Given the description of an element on the screen output the (x, y) to click on. 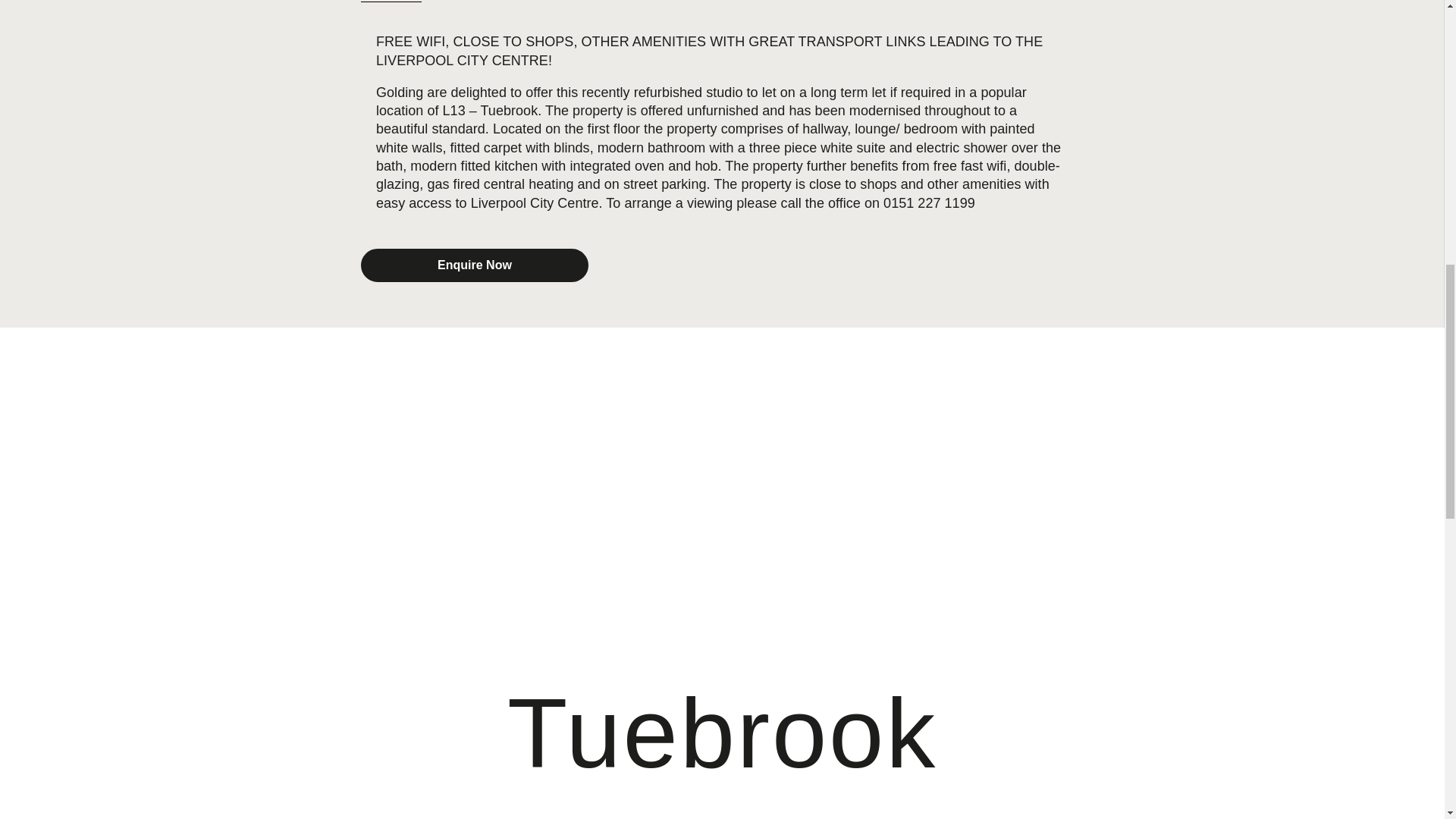
Enquire Now (474, 264)
Overview (391, 1)
